Given the description of an element on the screen output the (x, y) to click on. 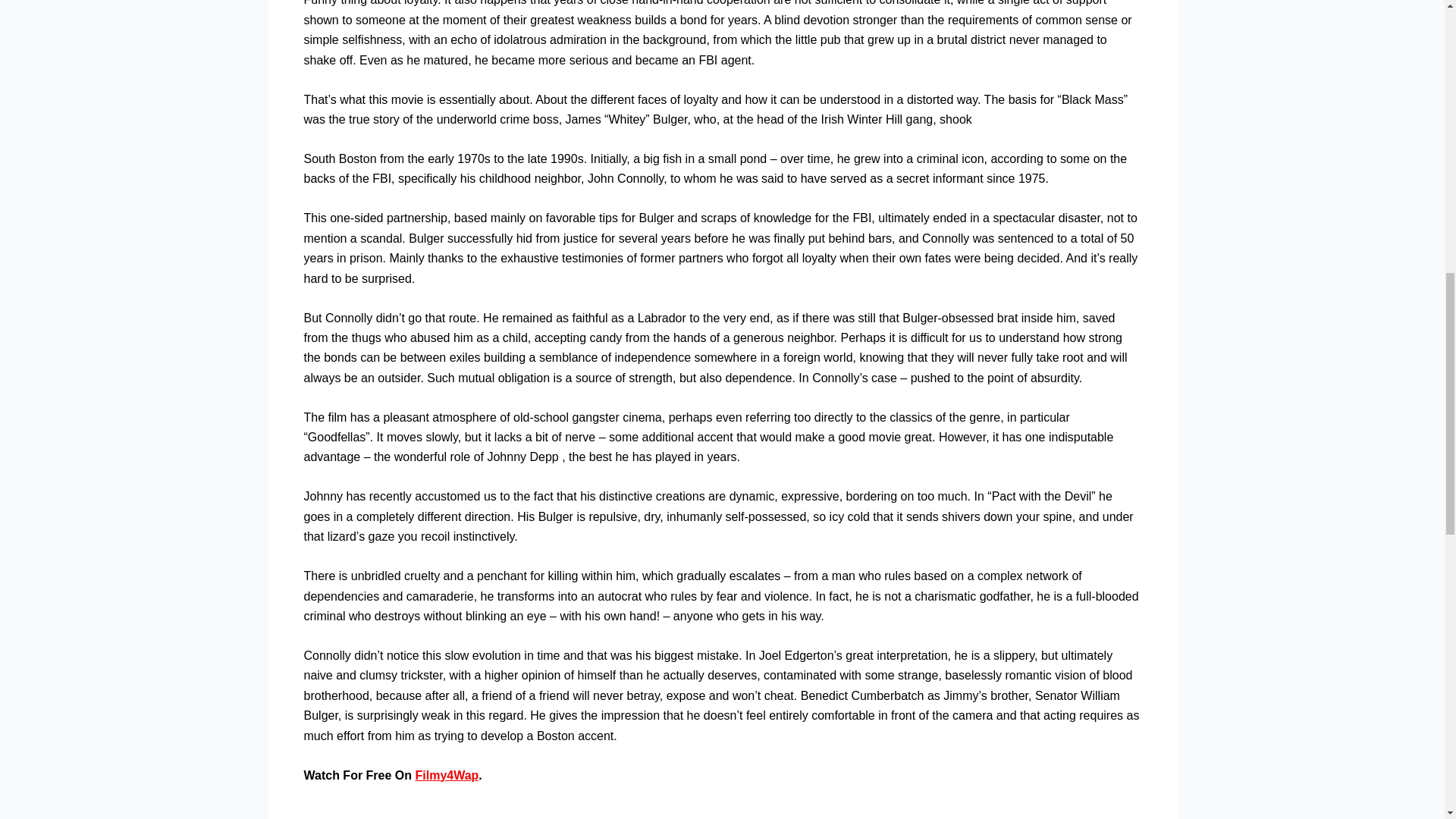
Filmy4Wap (446, 775)
